Given the description of an element on the screen output the (x, y) to click on. 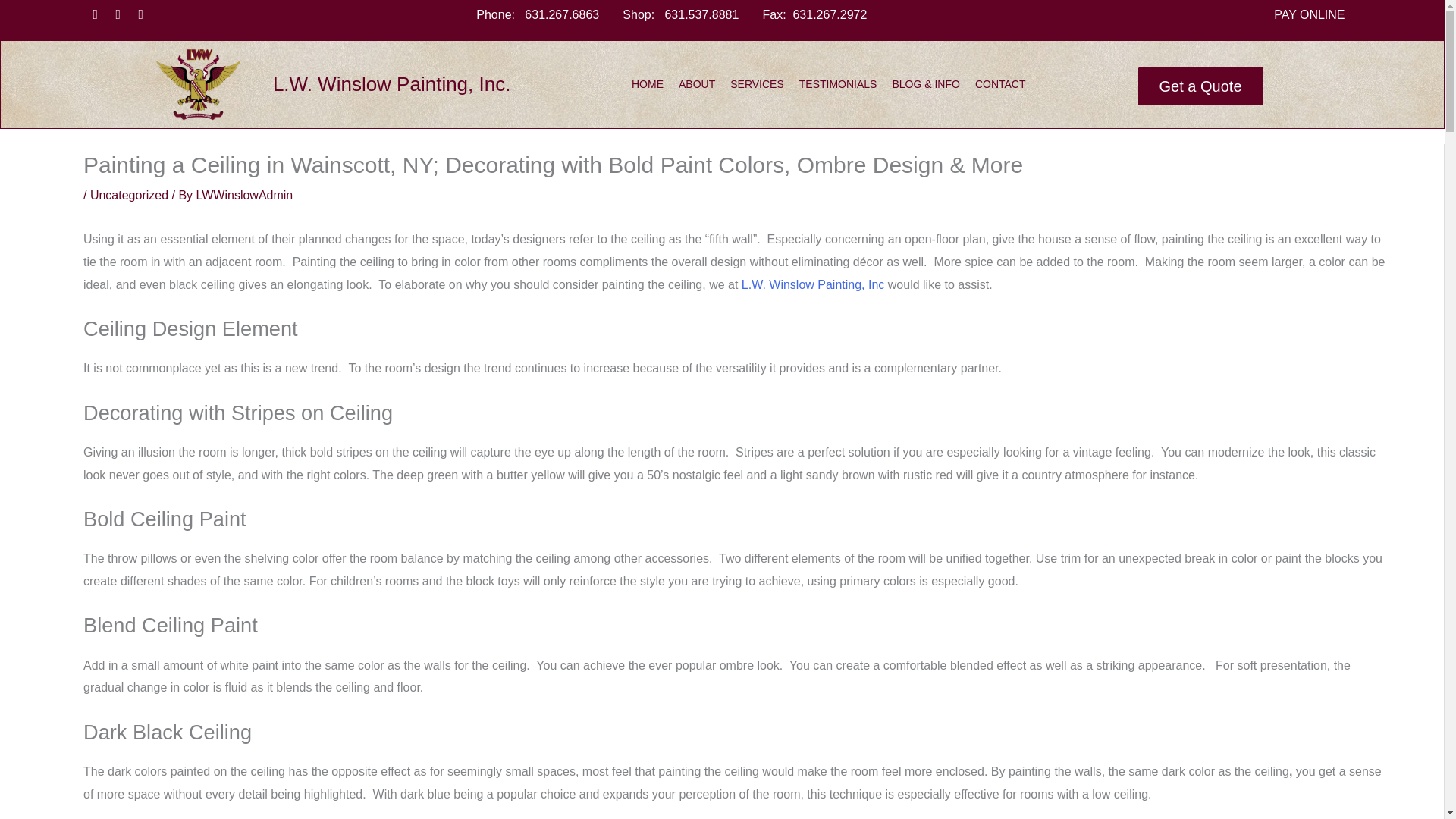
TESTIMONIALS (837, 84)
View all posts by LWWinslowAdmin (245, 195)
631.267.6863 (561, 14)
HOME (646, 84)
ABOUT (697, 84)
SERVICES (756, 84)
L.W. Winslow Painting, Inc. (392, 83)
631.537.8881 (700, 14)
CONTACT (1000, 84)
L.W. Winslow Painting, Inc. (392, 83)
